Given the description of an element on the screen output the (x, y) to click on. 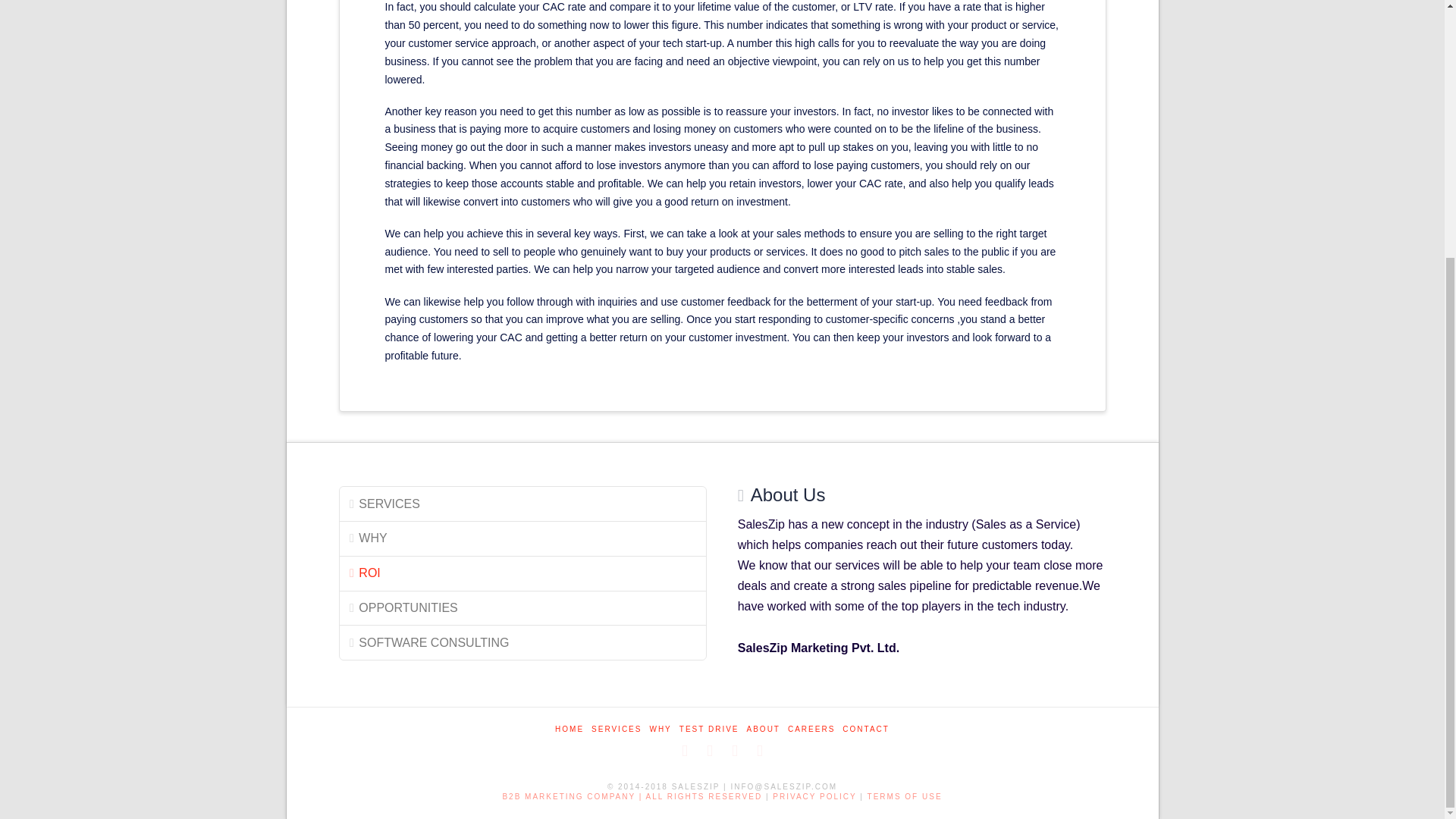
SalesZip (904, 796)
SalesZip (814, 796)
SalesZip (631, 796)
